Given the description of an element on the screen output the (x, y) to click on. 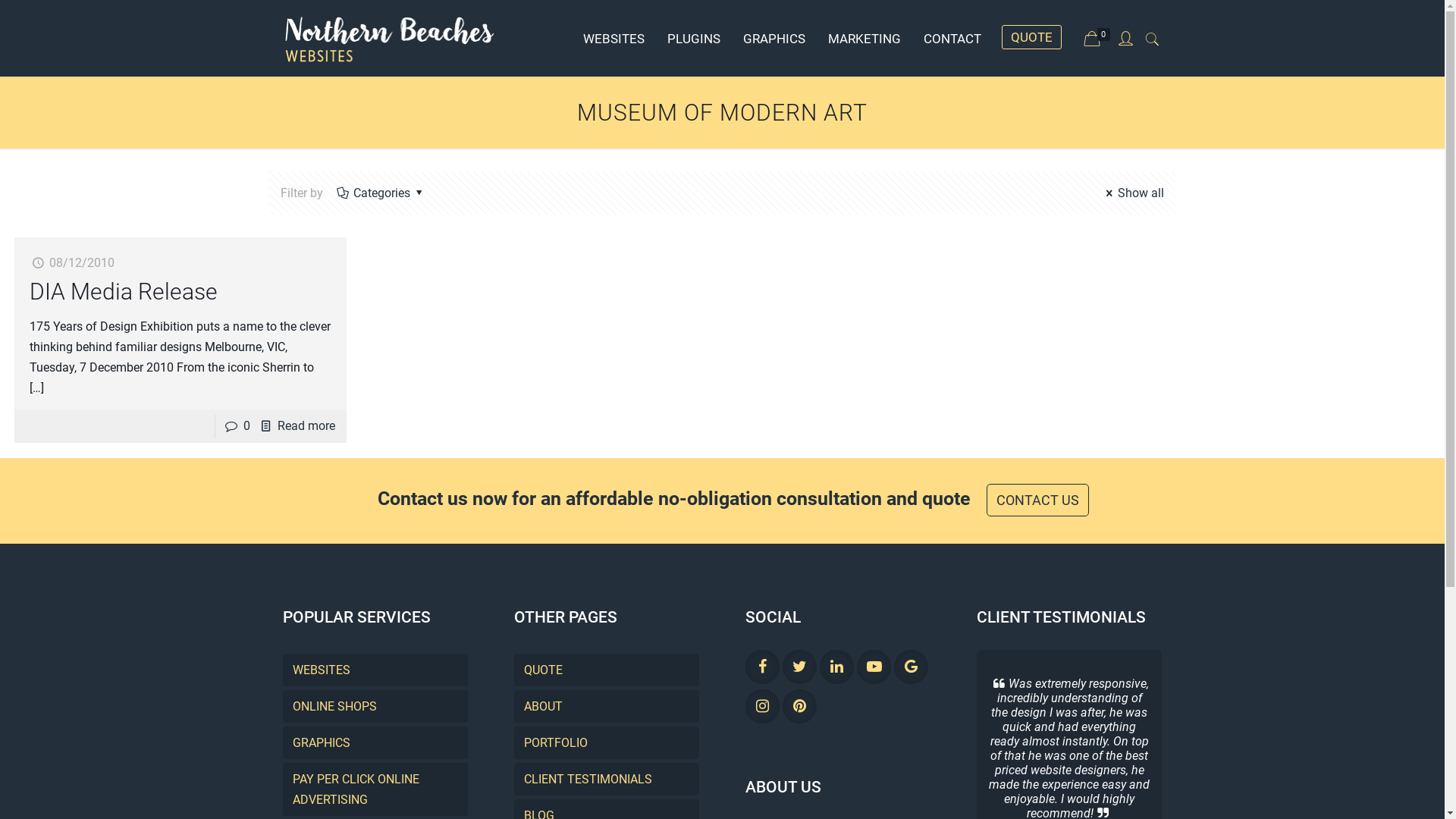
QUOTE Element type: text (606, 669)
MARKETING Element type: text (864, 38)
GRAPHICS Element type: text (773, 38)
CLIENT TESTIMONIALS Element type: text (606, 778)
QUOTE Element type: text (1024, 32)
Show all Element type: text (1132, 192)
0 Element type: text (1098, 39)
PAY PER CLICK ONLINE ADVERTISING Element type: text (374, 788)
GRAPHICS Element type: text (374, 742)
WEBSITES Element type: text (613, 38)
0 Element type: text (246, 425)
CONTACT US Element type: text (1037, 499)
WEBSITES Element type: text (374, 669)
ABOUT Element type: text (606, 706)
DIA Media Release Element type: text (123, 291)
Northern Beaches Websites Element type: hover (389, 38)
Read more Element type: text (306, 425)
PLUGINS Element type: text (693, 38)
PORTFOLIO Element type: text (606, 742)
ONLINE SHOPS Element type: text (374, 706)
Categories Element type: text (381, 192)
CONTACT Element type: text (952, 38)
